Given the description of an element on the screen output the (x, y) to click on. 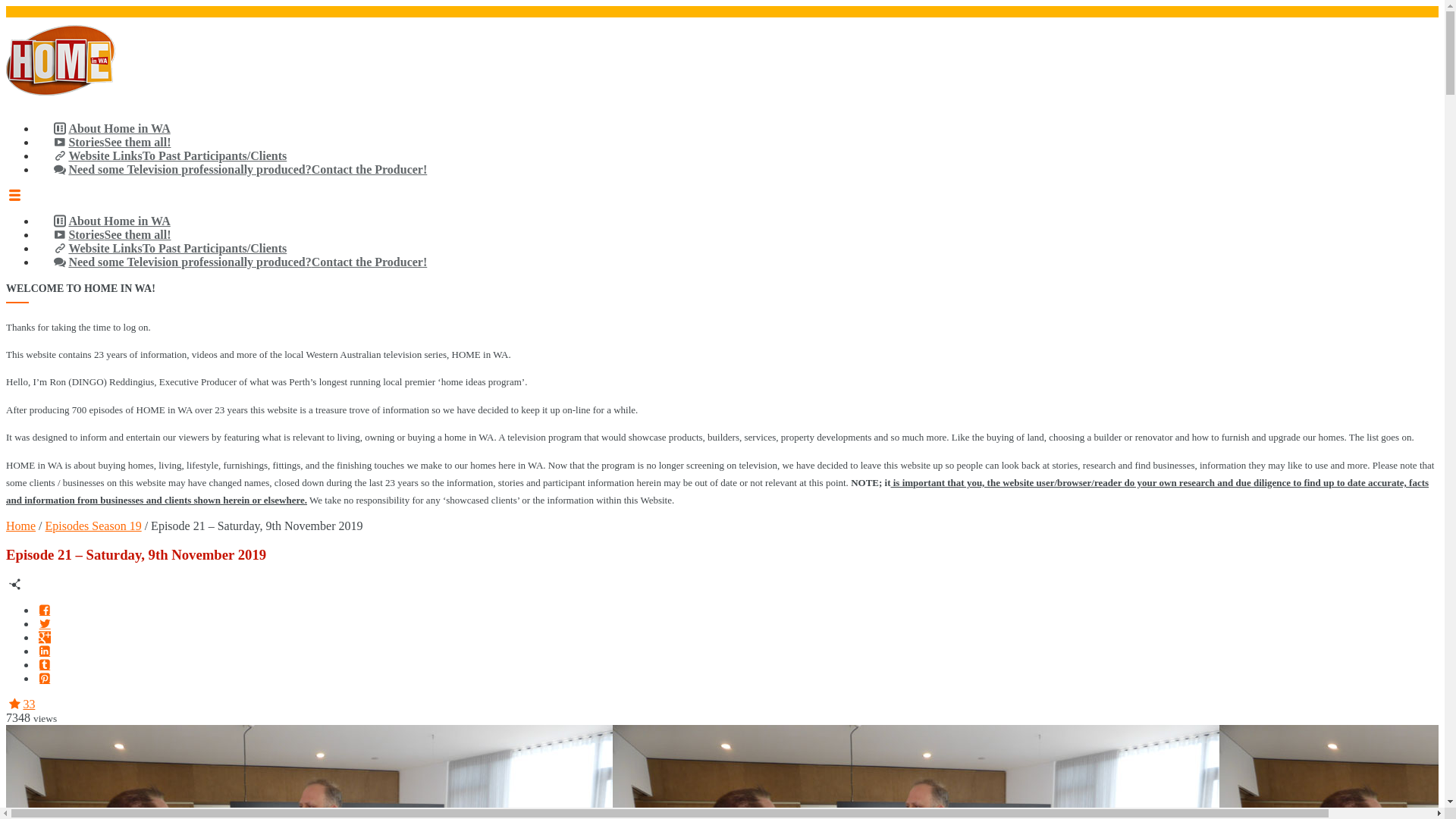
33 Element type: text (20, 703)
Website LinksTo Past Participants/Clients Element type: text (168, 155)
StoriesSee them all! Element type: text (110, 234)
Website LinksTo Past Participants/Clients Element type: text (168, 247)
About Home in WA Element type: text (110, 220)
StoriesSee them all! Element type: text (110, 141)
Episodes Season 19 Element type: text (93, 525)
About Home in WA Element type: text (110, 128)
Home Element type: text (20, 525)
